Given the description of an element on the screen output the (x, y) to click on. 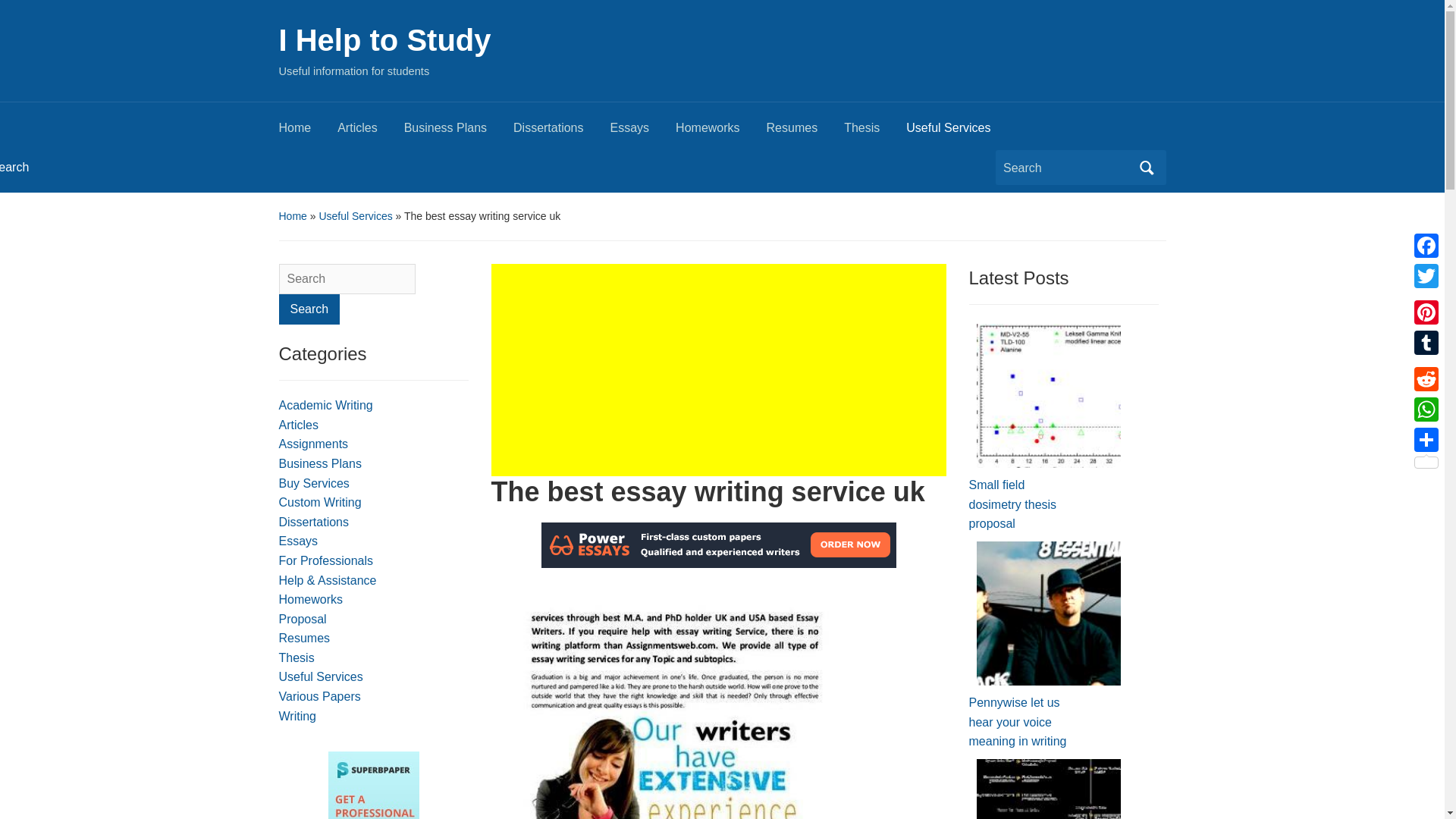
Proposal (302, 618)
Useful Services (960, 131)
Dissertations (314, 521)
Search (309, 309)
Useful Services (354, 215)
Resumes (304, 637)
Academic Writing (325, 404)
Articles (298, 424)
Various Papers (320, 696)
